Given the description of an element on the screen output the (x, y) to click on. 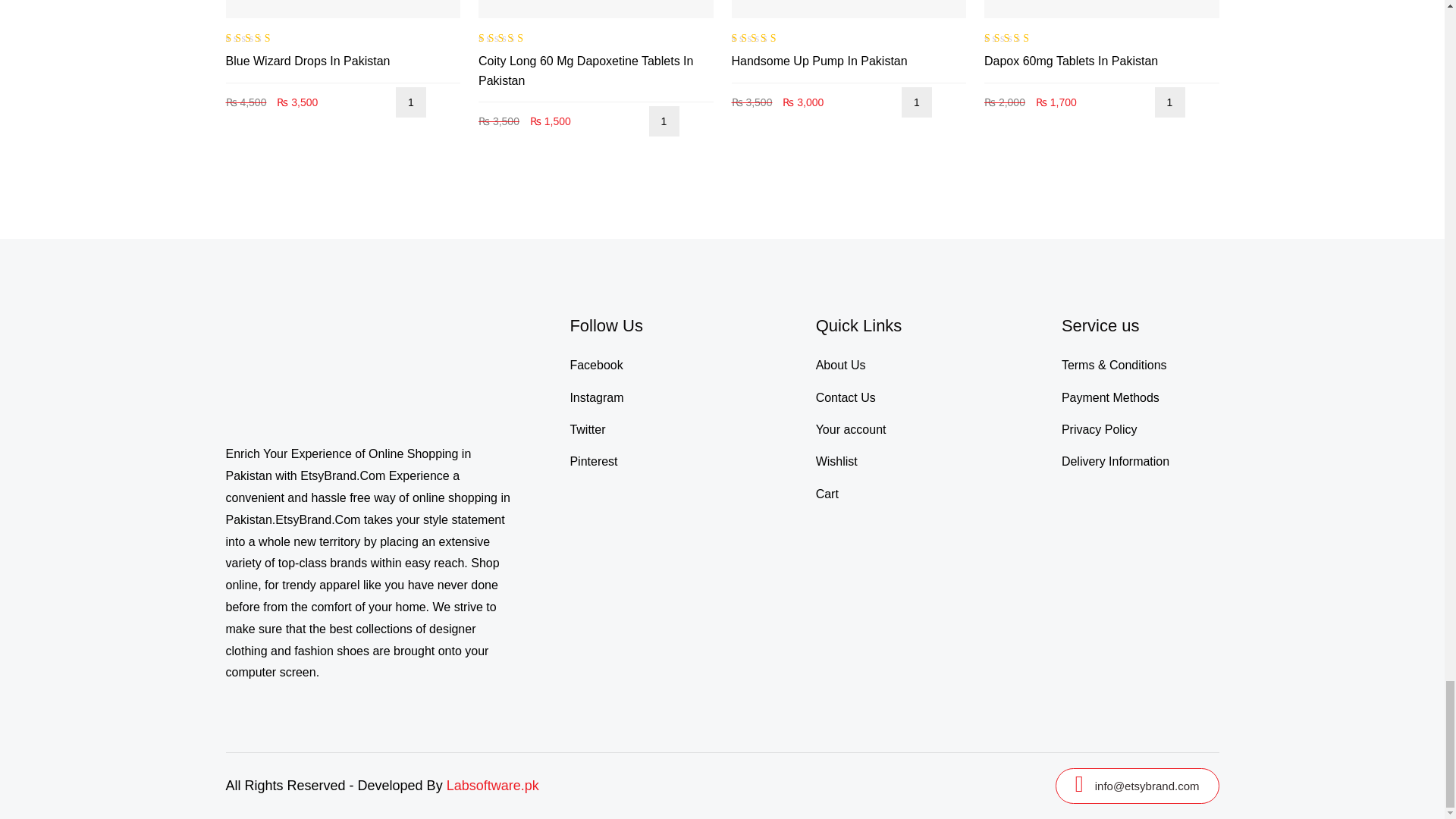
1 (916, 101)
1 (664, 121)
1 (1169, 101)
1 (411, 101)
